Given the description of an element on the screen output the (x, y) to click on. 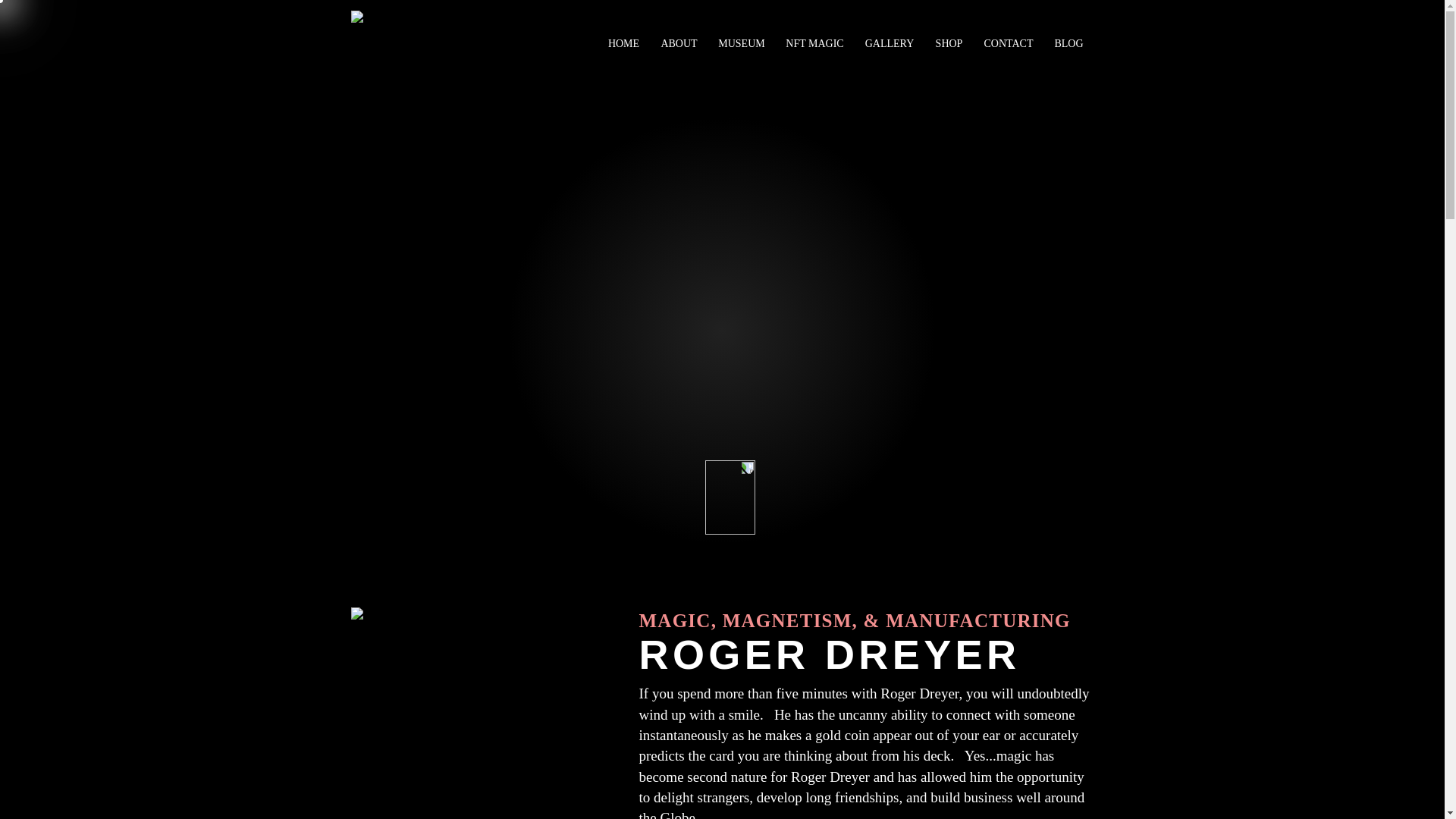
HOME (623, 37)
SHOP (949, 37)
Mother Daughter Portrait (486, 713)
HOUDINI REVEALED FORMERLY LOGO.png (455, 36)
MUSEUM (741, 37)
BLOG (1068, 37)
GALLERY (888, 37)
NFT MAGIC (813, 37)
CONTACT (1008, 37)
arrow-clay.gif (741, 485)
